Given the description of an element on the screen output the (x, y) to click on. 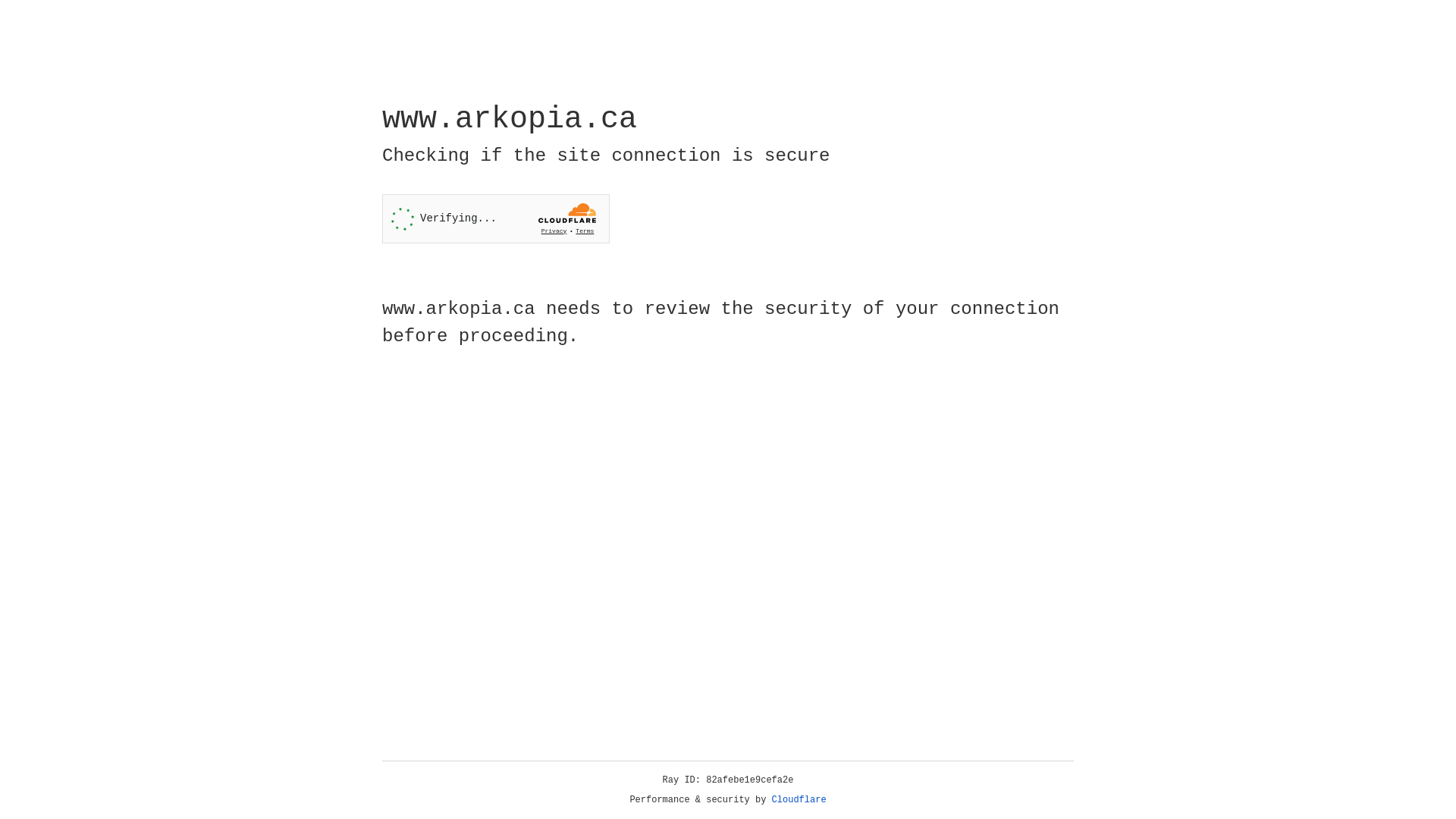
Widget containing a Cloudflare security challenge Element type: hover (495, 218)
Cloudflare Element type: text (798, 799)
